Given the description of an element on the screen output the (x, y) to click on. 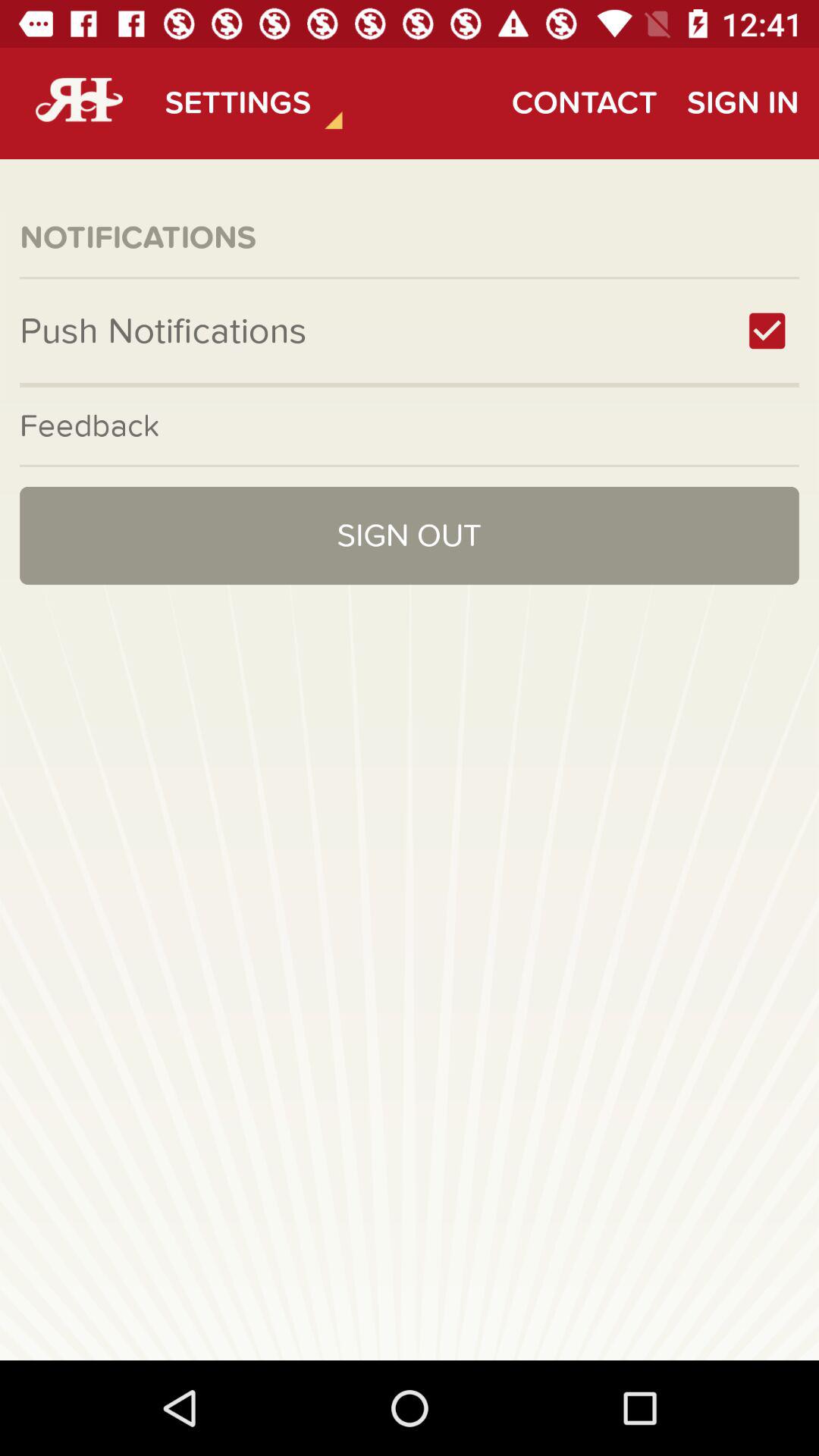
turn off item to the left of the sign in item (583, 103)
